Given the description of an element on the screen output the (x, y) to click on. 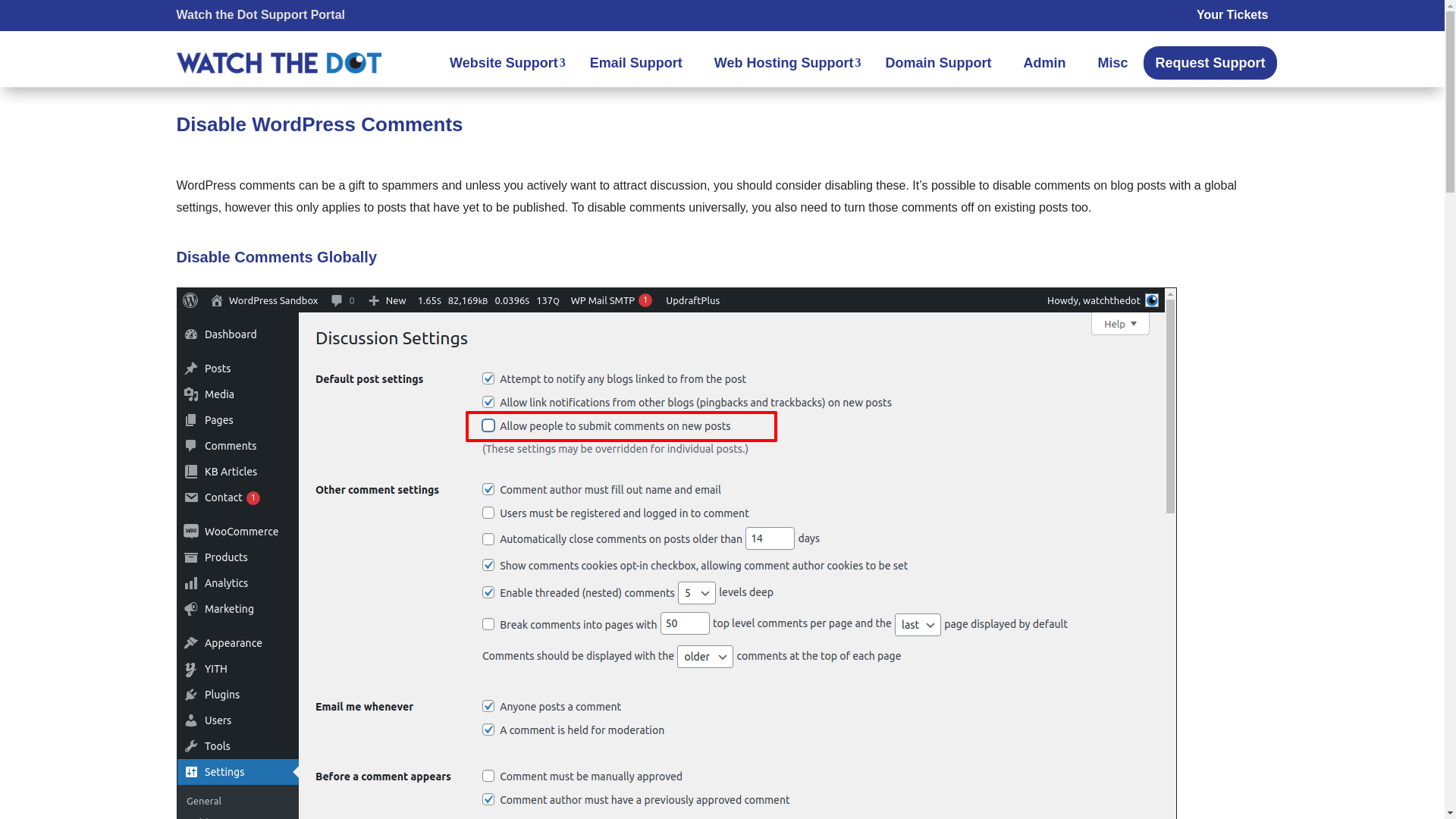
Your Tickets (1232, 14)
Misc (1112, 62)
Request Support (1209, 62)
Web Hosting Support (783, 62)
Website Support (504, 62)
Email Support (636, 62)
Domain Support (937, 62)
Admin (1043, 62)
